Given the description of an element on the screen output the (x, y) to click on. 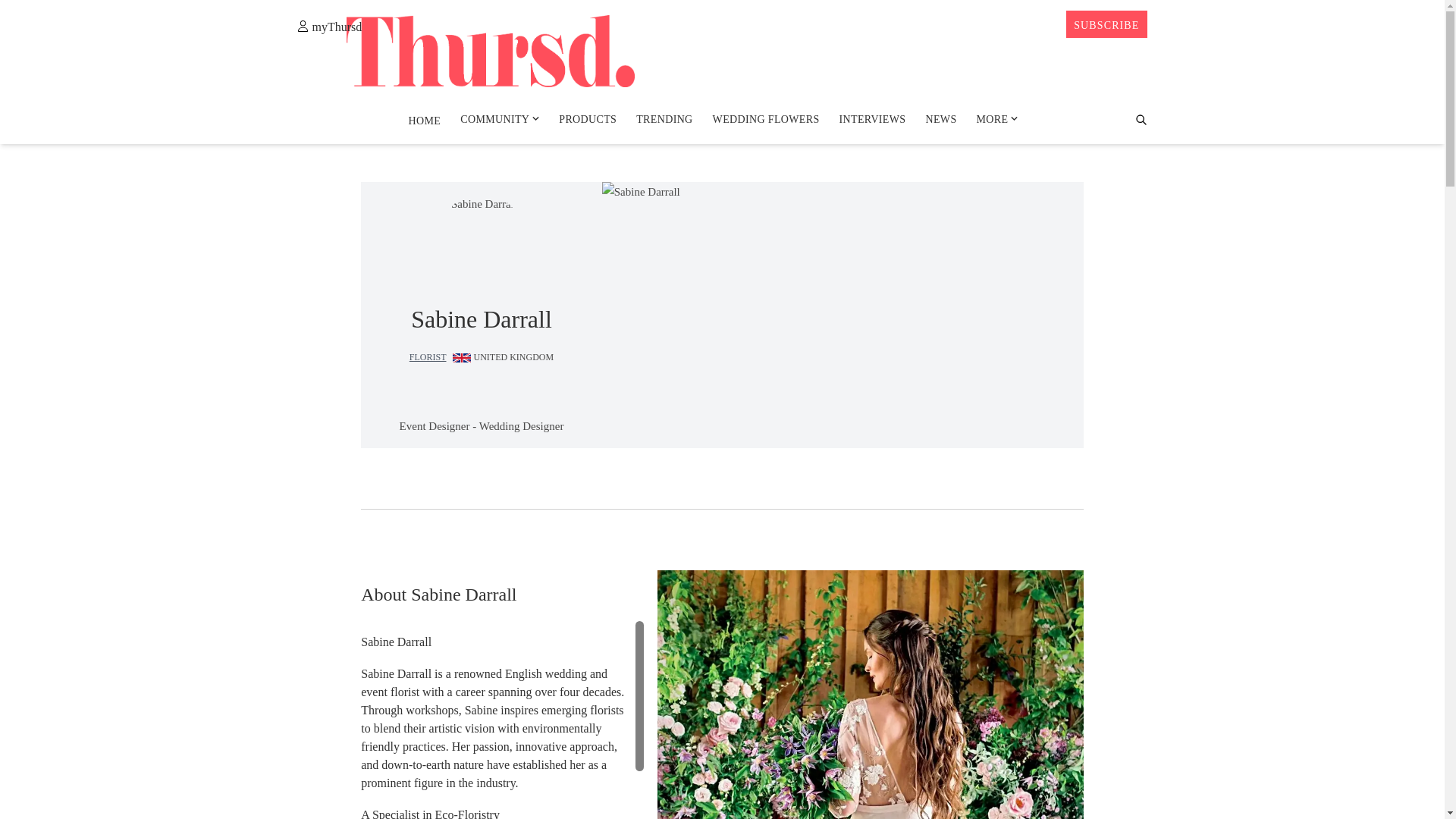
SUBSCRIBE (1106, 23)
myThursd (329, 25)
